Given the description of an element on the screen output the (x, y) to click on. 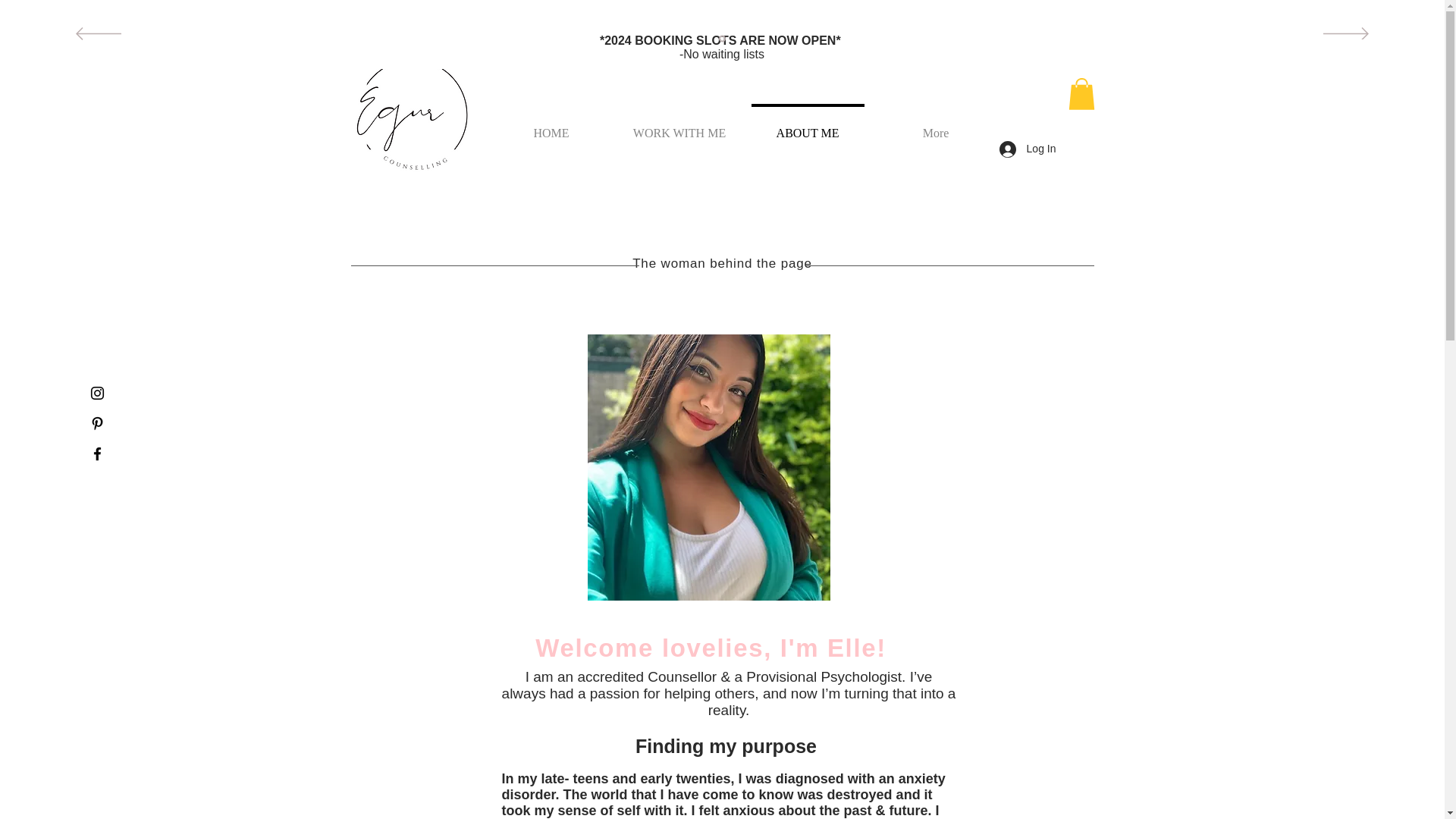
ABOUT ME (806, 126)
Log In (1027, 149)
HOME (550, 126)
WORK WITH ME (679, 126)
